Given the description of an element on the screen output the (x, y) to click on. 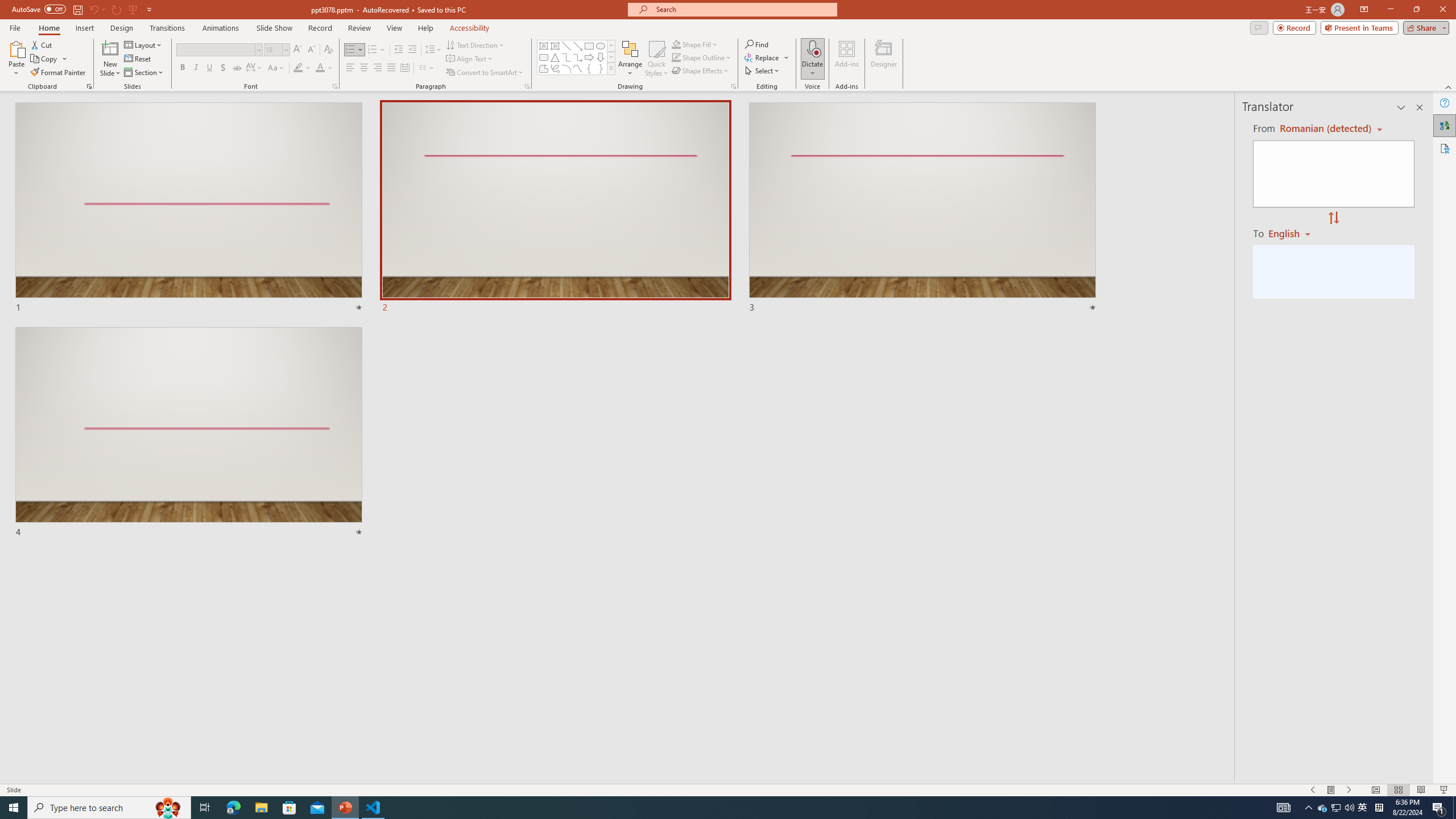
Slide Show Previous On (1313, 790)
Czech (detected) (1323, 128)
